Given the description of an element on the screen output the (x, y) to click on. 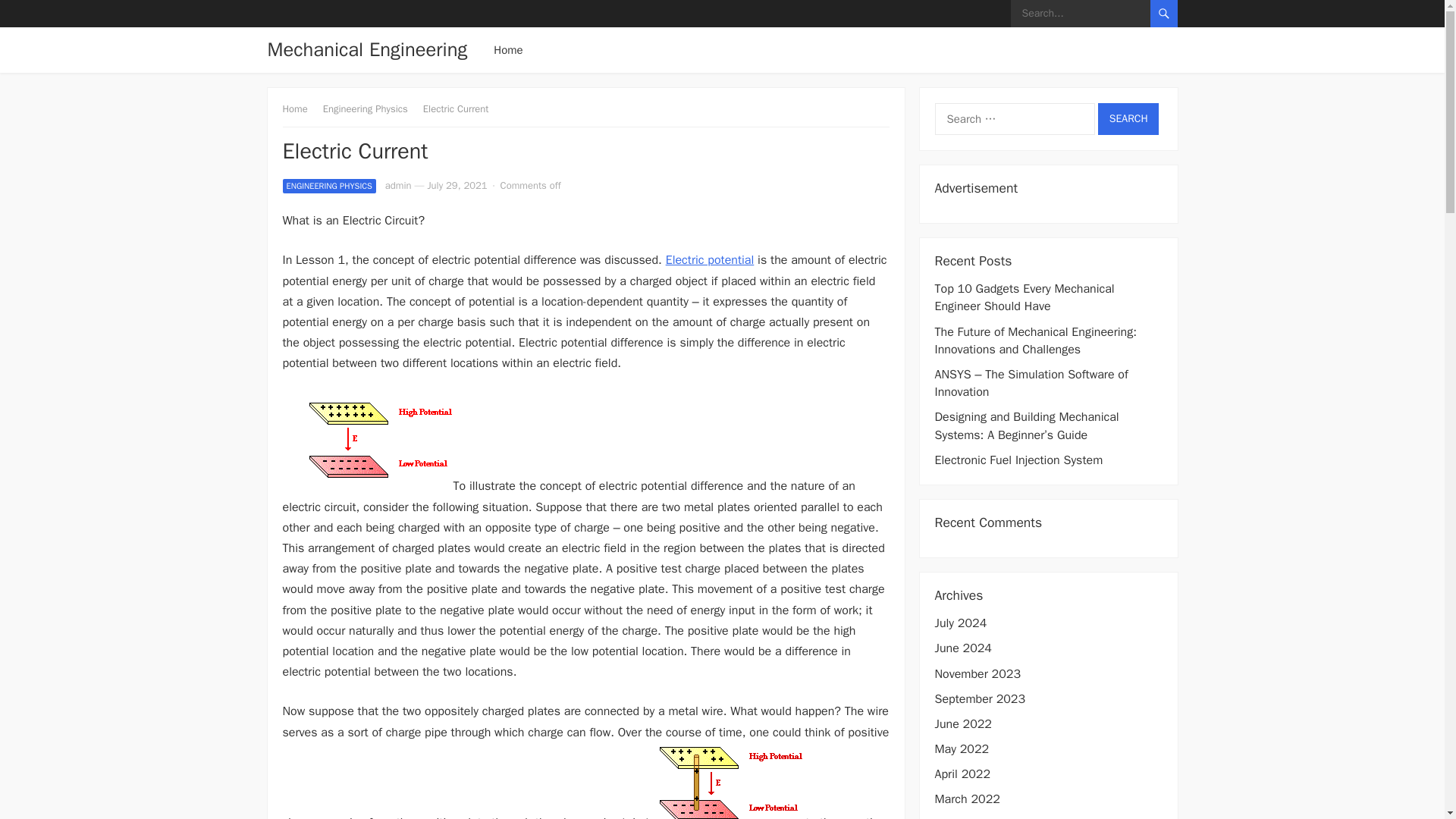
admin (398, 185)
Search (1127, 119)
Search (1127, 119)
Search (1127, 119)
ENGINEERING PHYSICS (328, 186)
April 2022 (962, 774)
September 2023 (979, 698)
Electric potential (709, 259)
June 2022 (962, 724)
Electronic Fuel Injection System (1018, 459)
